Given the description of an element on the screen output the (x, y) to click on. 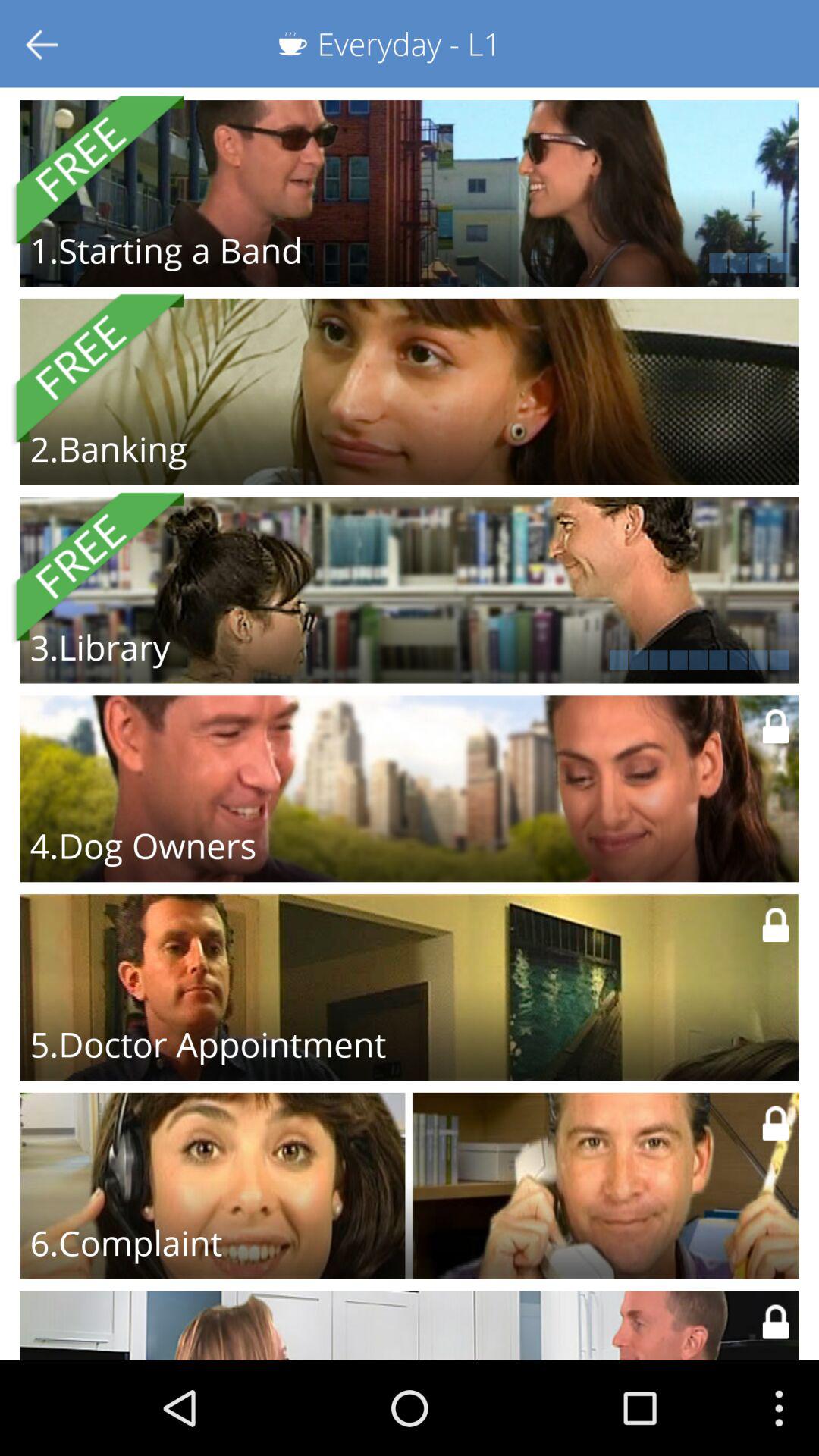
swipe to the 6.complaint (126, 1242)
